Given the description of an element on the screen output the (x, y) to click on. 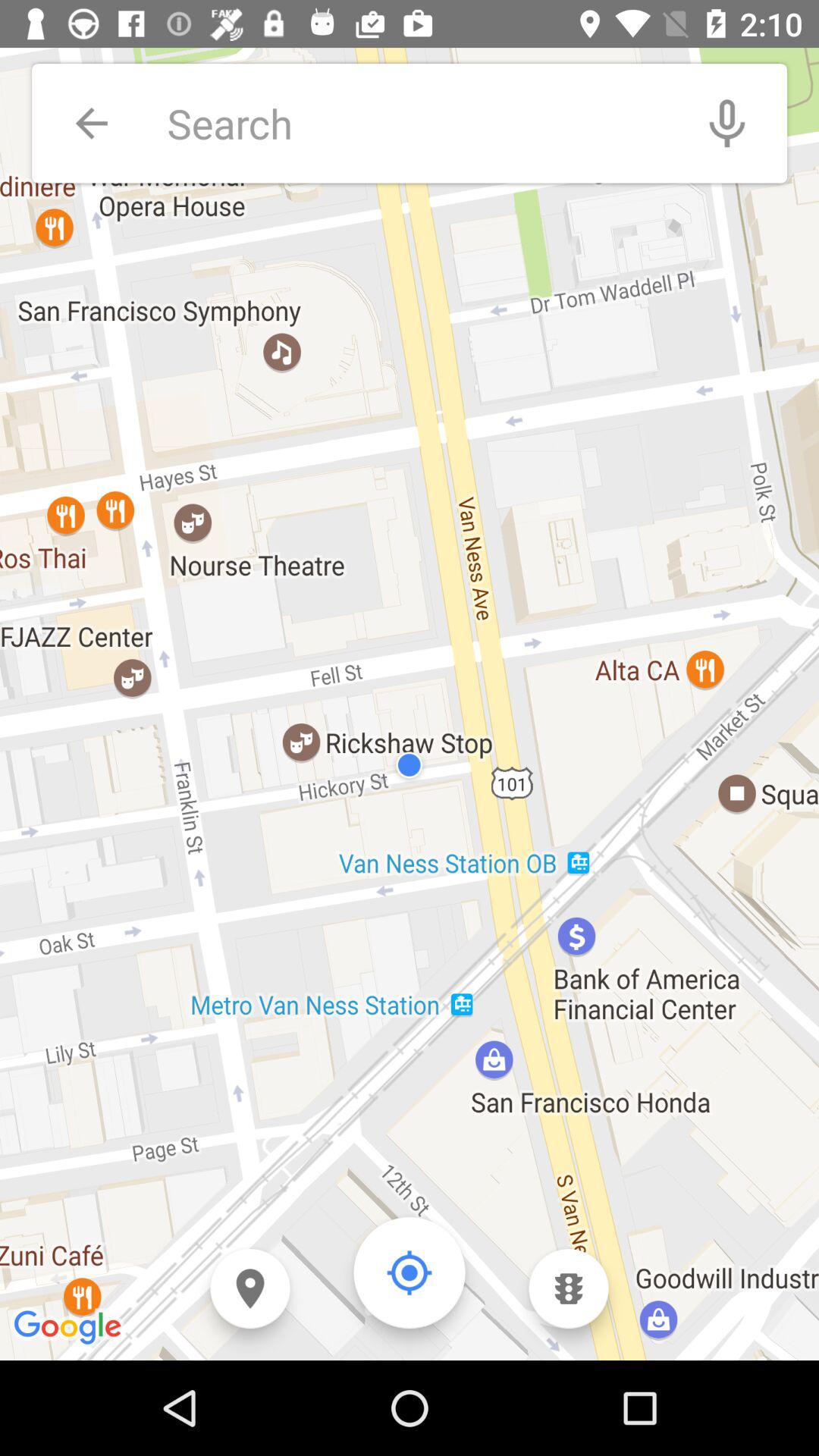
activate microphone to search (727, 123)
